Given the description of an element on the screen output the (x, y) to click on. 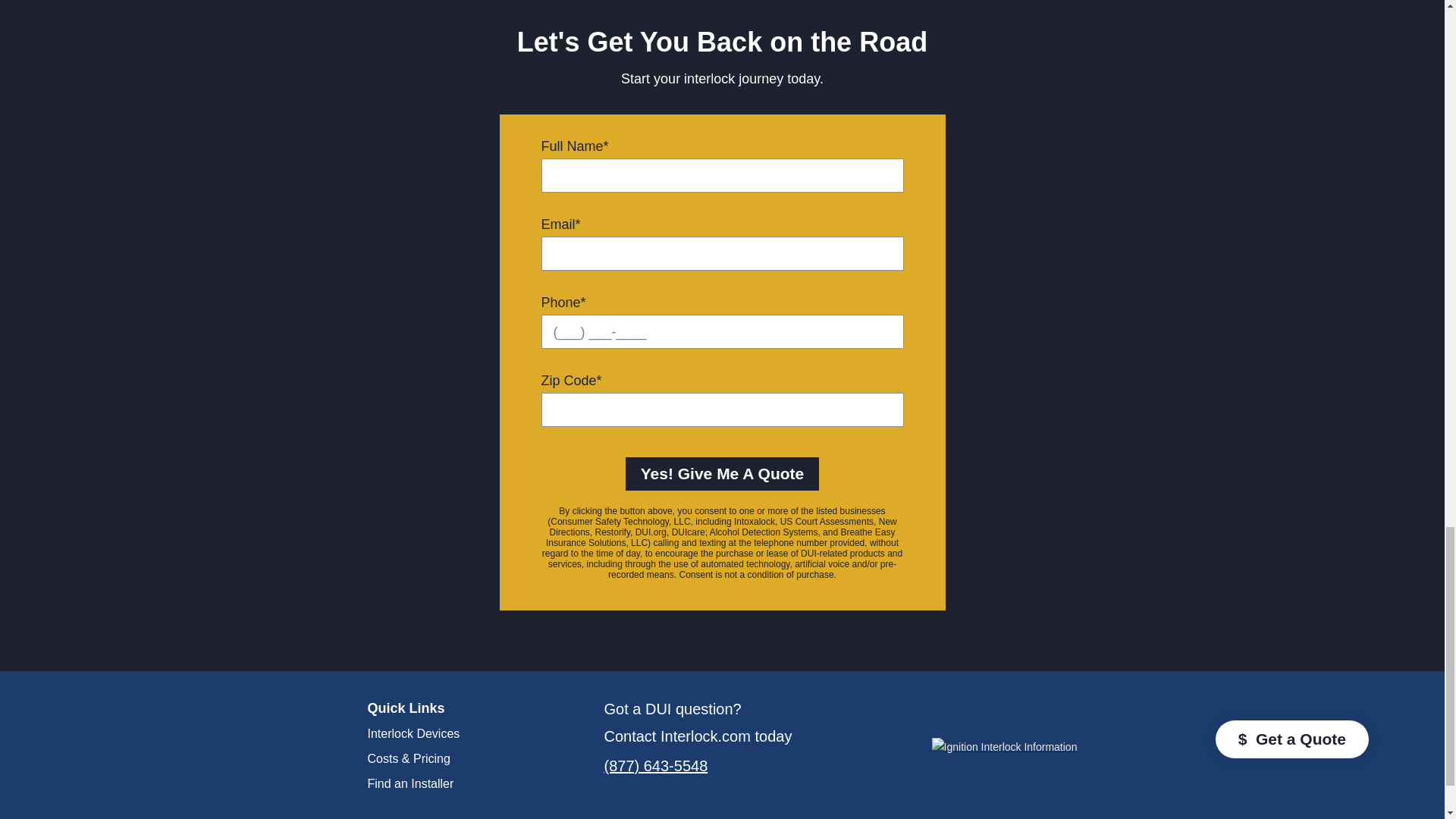
Find an Installer (455, 784)
Interlock Devices (455, 734)
Yes! Give Me A Quote (722, 473)
Yes! Give Me A Quote (722, 473)
